Given the description of an element on the screen output the (x, y) to click on. 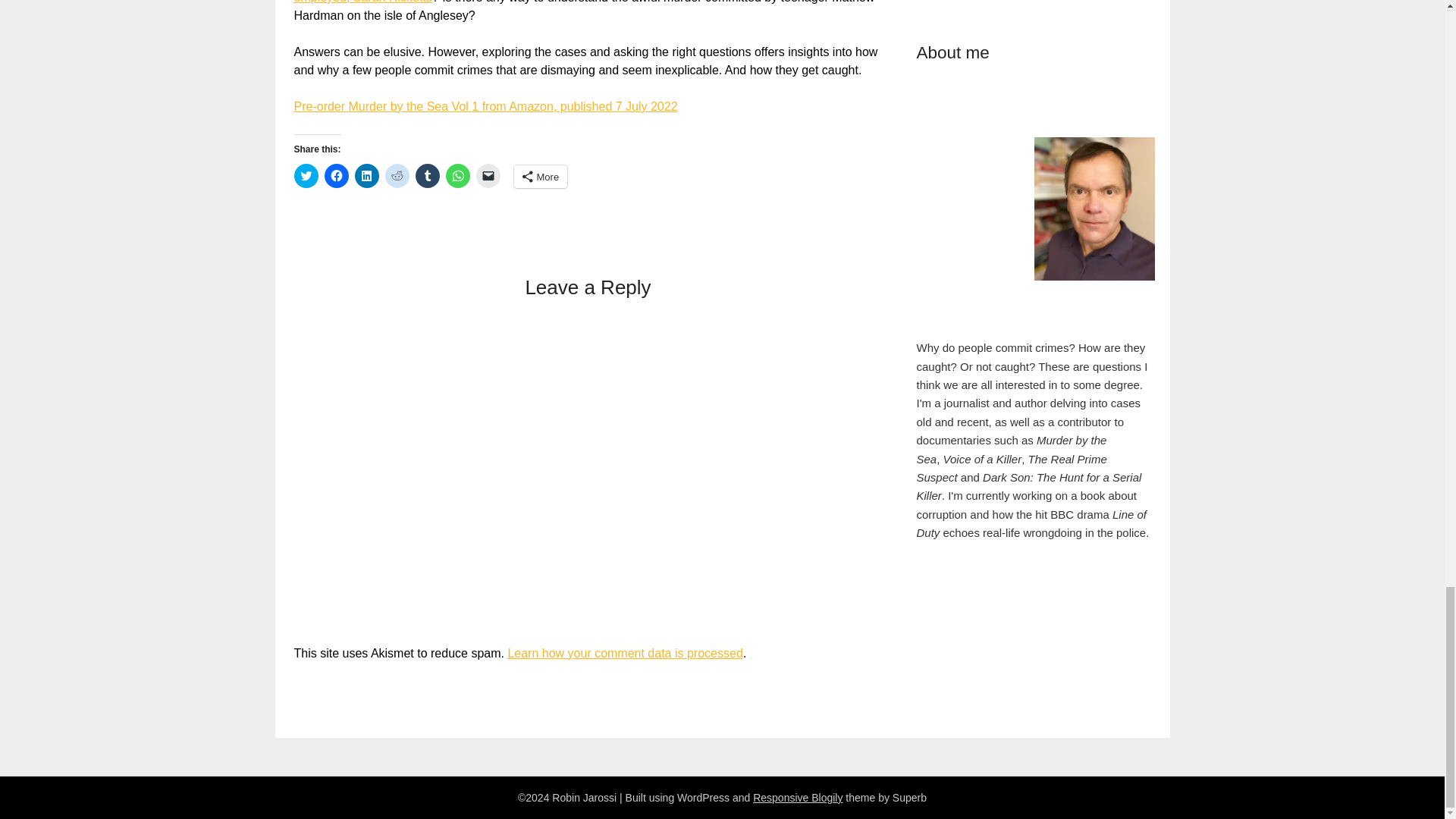
More (726, 6)
Click to email a link to a friend (683, 6)
True crime books (775, 63)
Click to share on WhatsApp (661, 6)
Click to share on Tumblr (639, 6)
Uncategorized (870, 63)
Click to share on LinkedIn (596, 6)
Murder by the Sea: The Mochries (662, 167)
Murder by the Sea (670, 63)
Click to share on Facebook (575, 6)
